Given the description of an element on the screen output the (x, y) to click on. 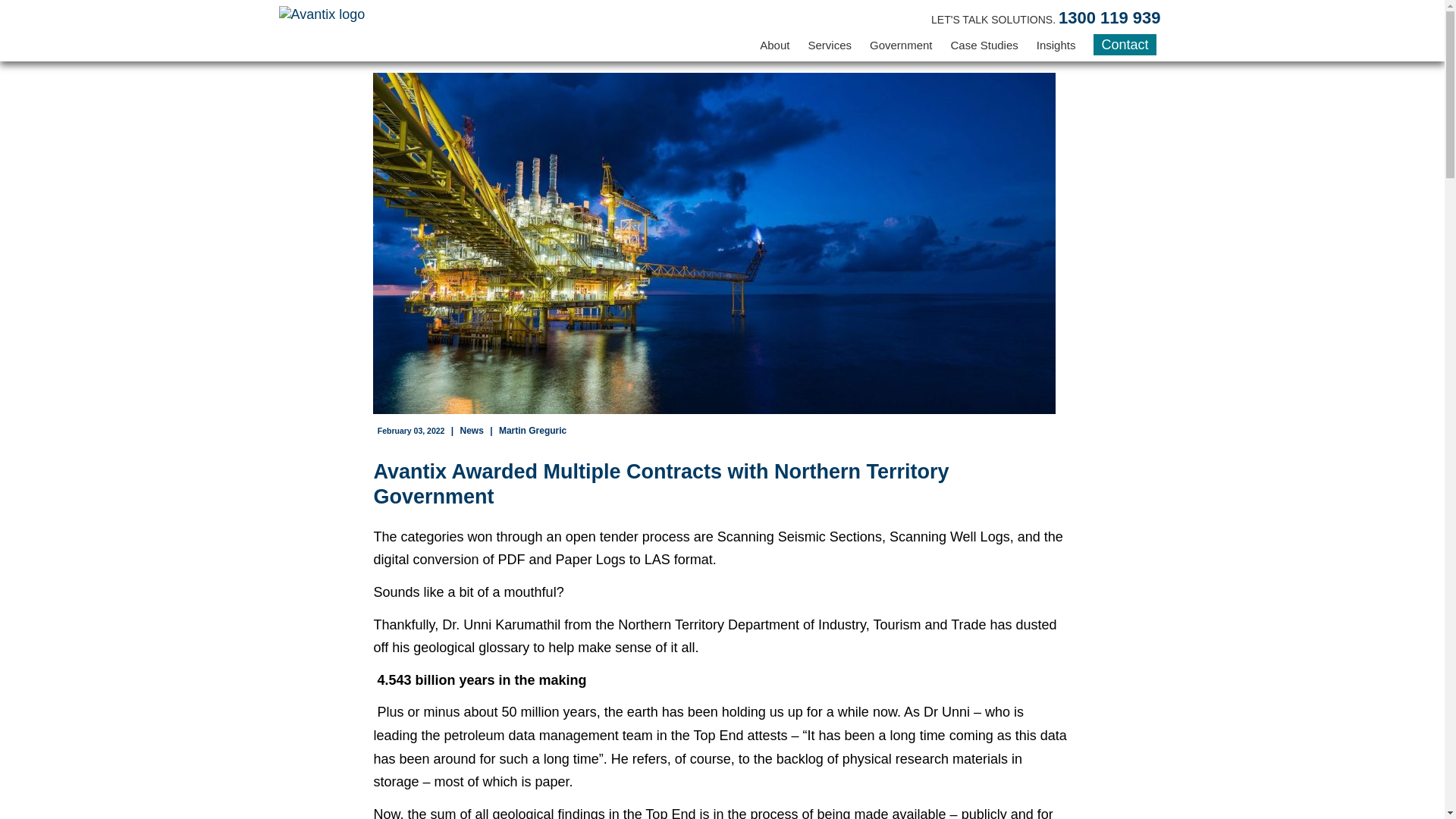
Case Studies (983, 47)
News (471, 430)
Martin Greguric (532, 430)
About (774, 47)
1300 119 939 (1109, 17)
Insights (1055, 47)
Contact (1124, 44)
Avantix home (322, 19)
Services (829, 47)
Government (901, 47)
